Given the description of an element on the screen output the (x, y) to click on. 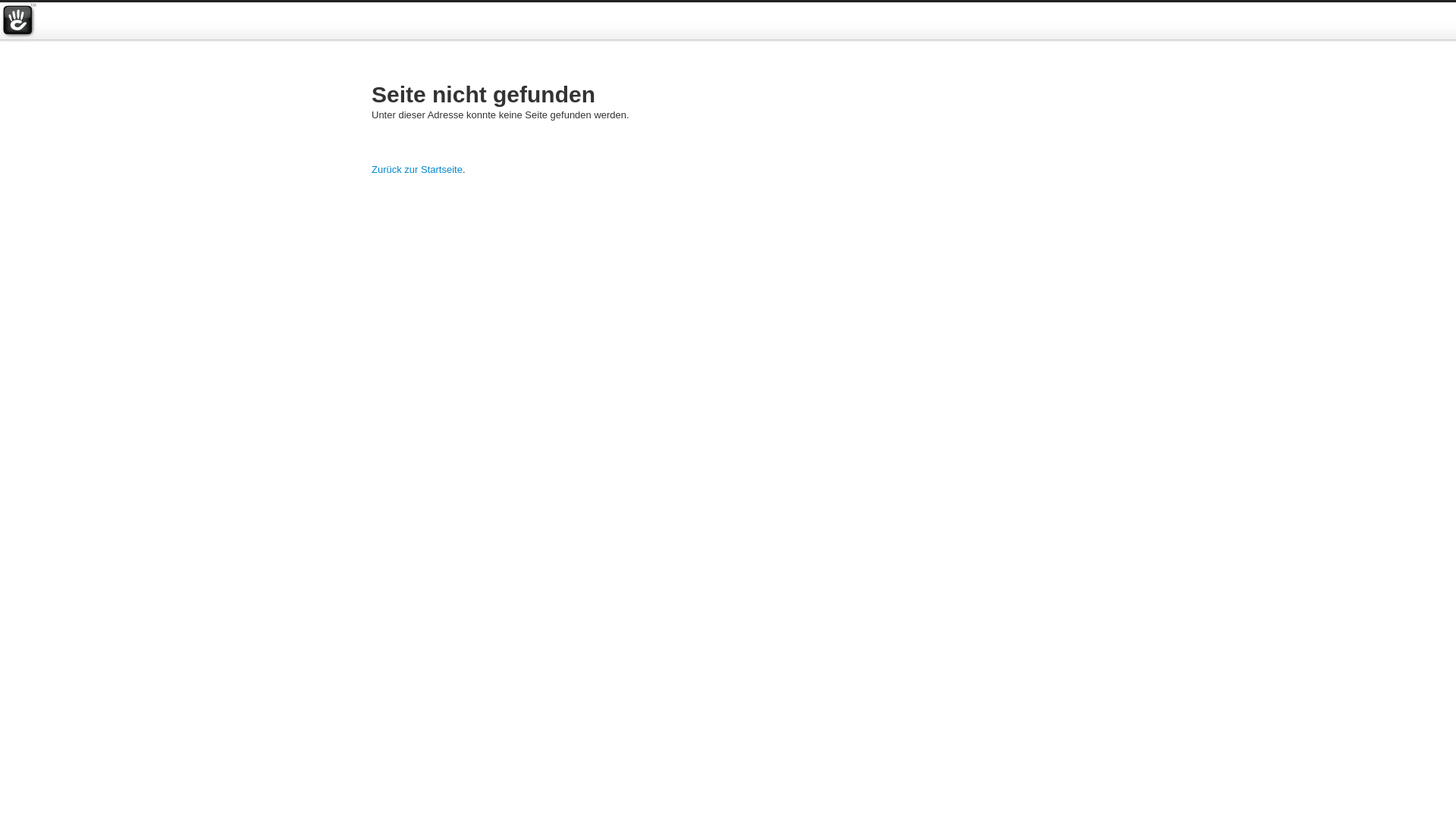
concrete5 Element type: hover (18, 20)
